Given the description of an element on the screen output the (x, y) to click on. 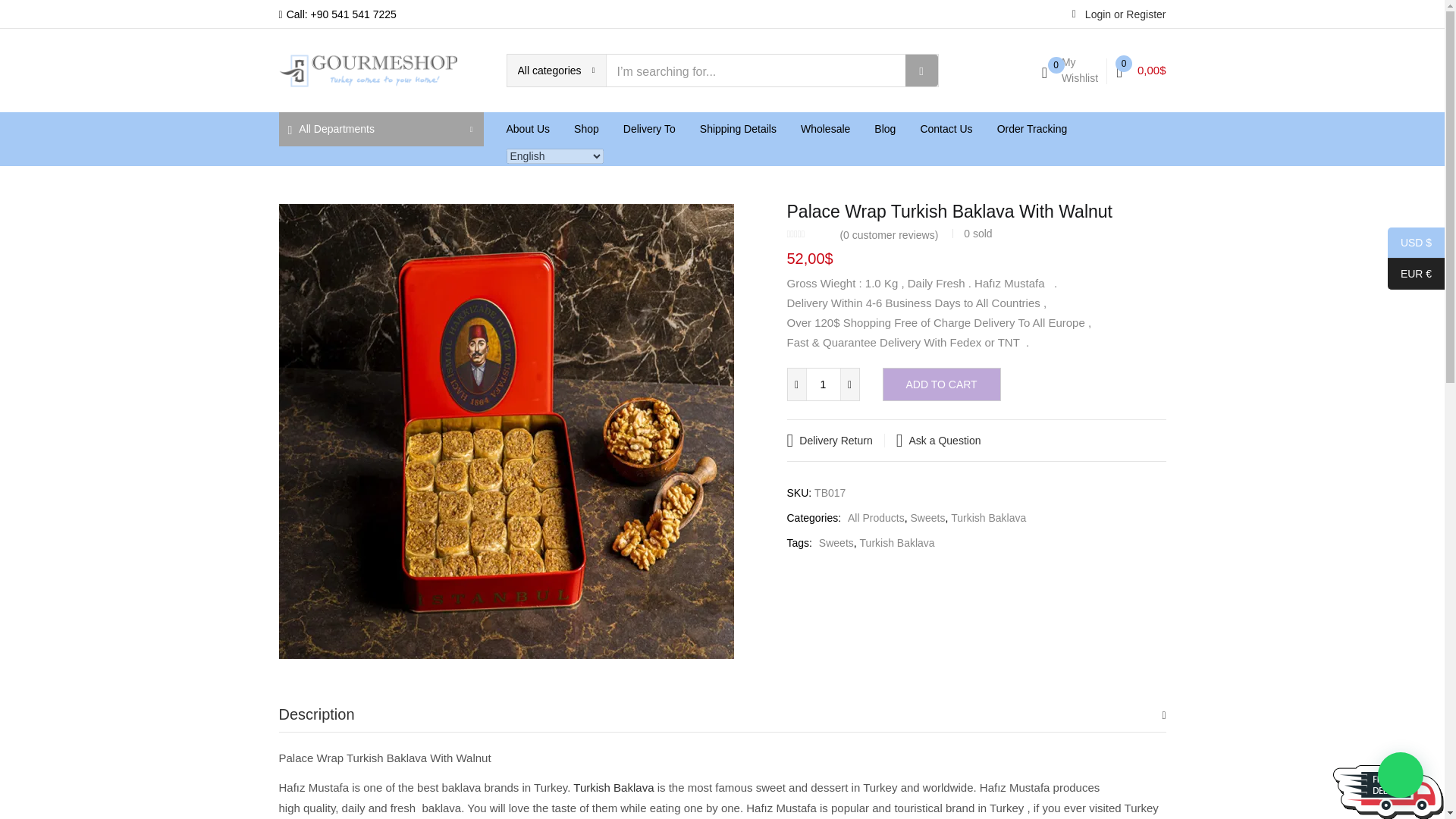
1 (823, 384)
 All categories (555, 70)
View your shopping cart (1141, 70)
Login or Register (1118, 13)
